Given the description of an element on the screen output the (x, y) to click on. 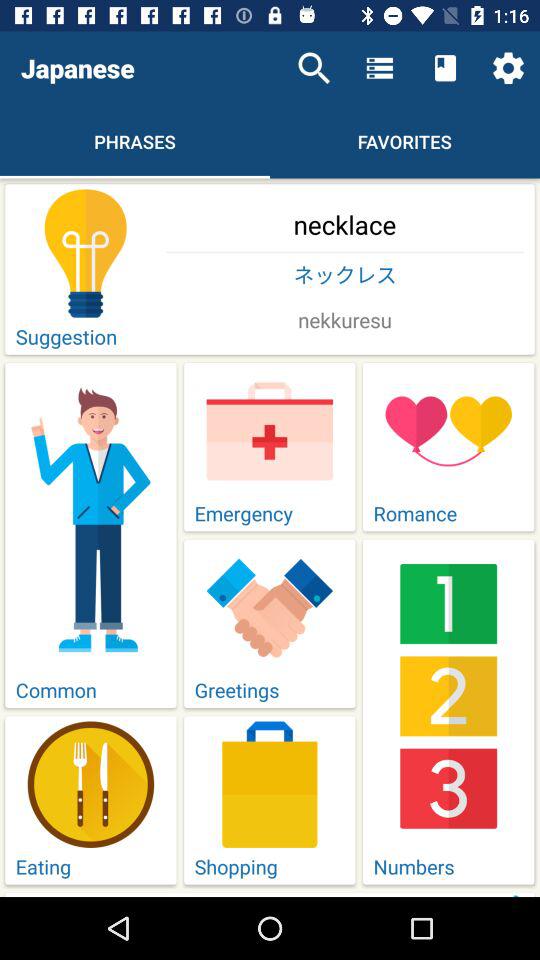
click icon above necklace (313, 67)
